Given the description of an element on the screen output the (x, y) to click on. 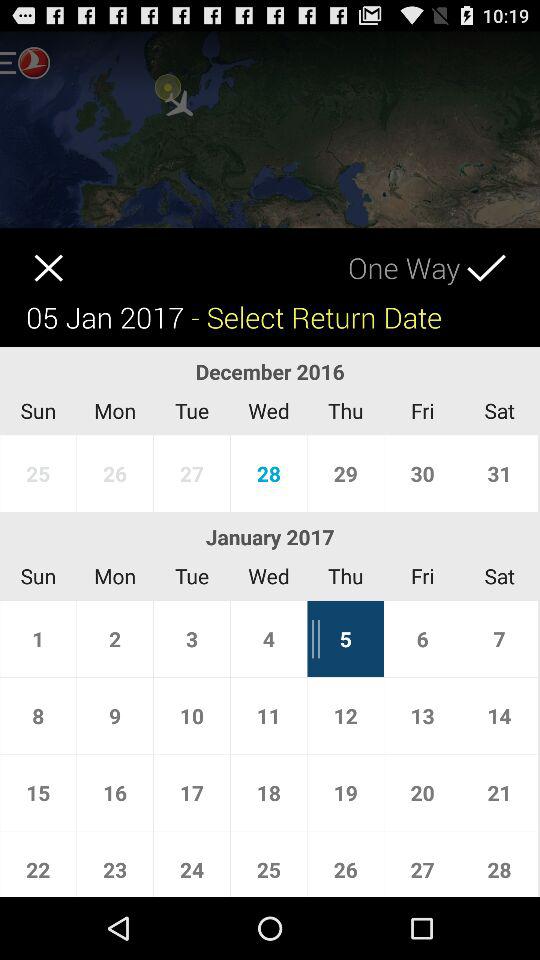
close (31, 254)
